Given the description of an element on the screen output the (x, y) to click on. 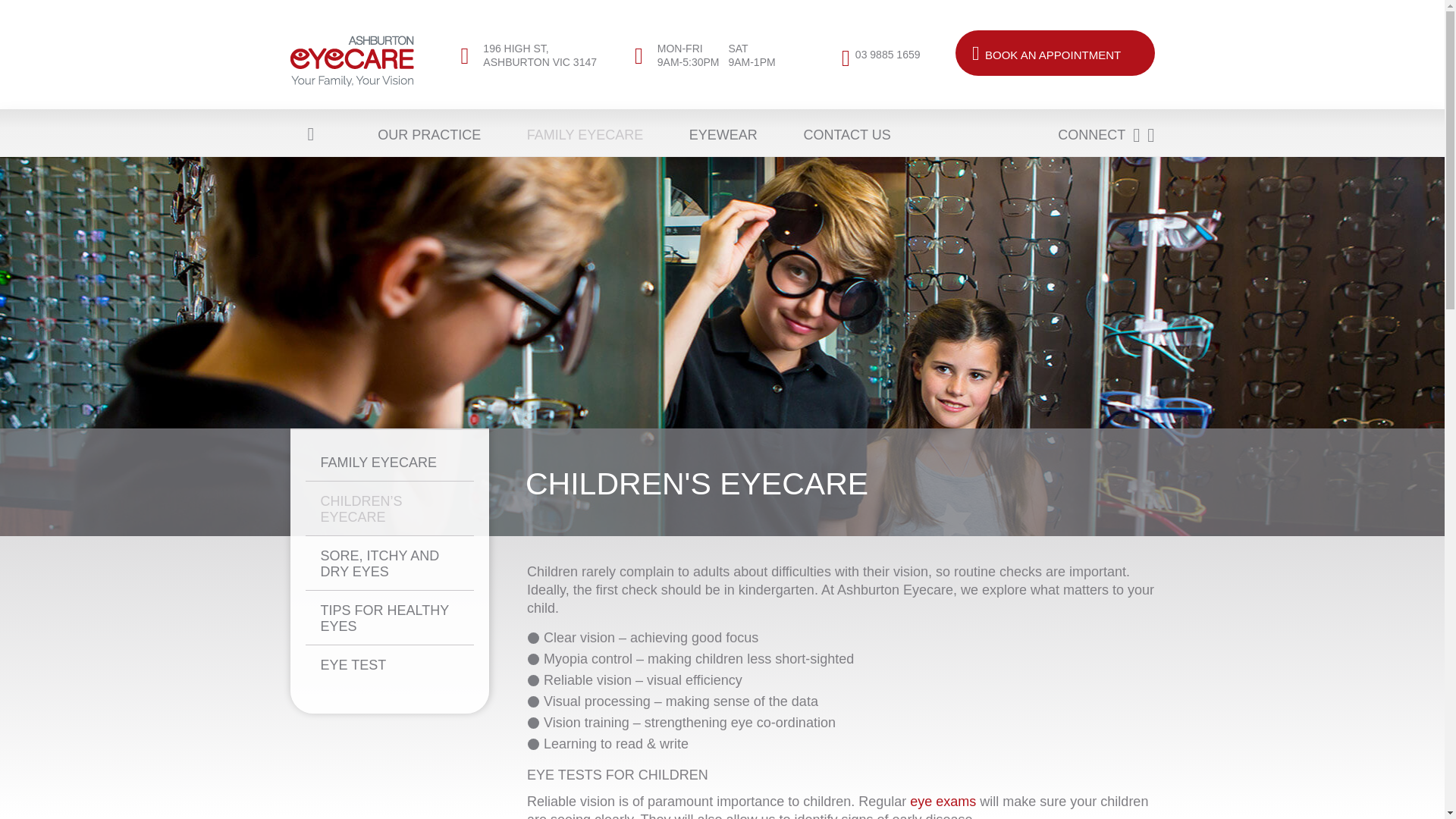
OUR PRACTICE (417, 134)
BOOK AN APPOINTMENT (1054, 53)
CONTACT US (834, 134)
FAMILY EYECARE (573, 134)
EYEWEAR (711, 134)
03 9885 1659 (716, 60)
196 HIGH ST, ASHBURTON VIC 3147 (888, 54)
Ashburton Eyecare (536, 54)
Ashburton Eyecare (351, 61)
